Given the description of an element on the screen output the (x, y) to click on. 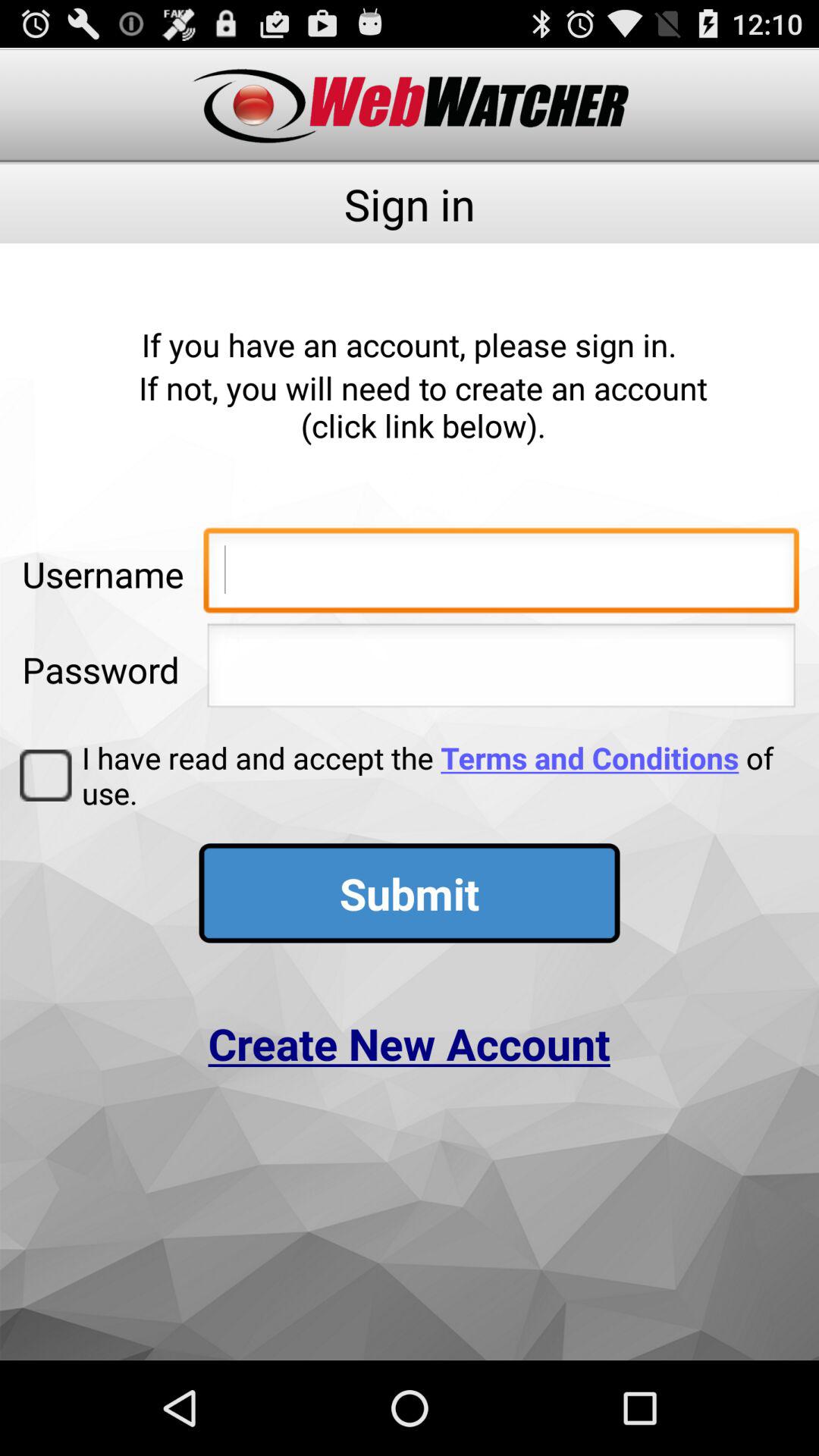
select item to the left of the i have read item (45, 775)
